Given the description of an element on the screen output the (x, y) to click on. 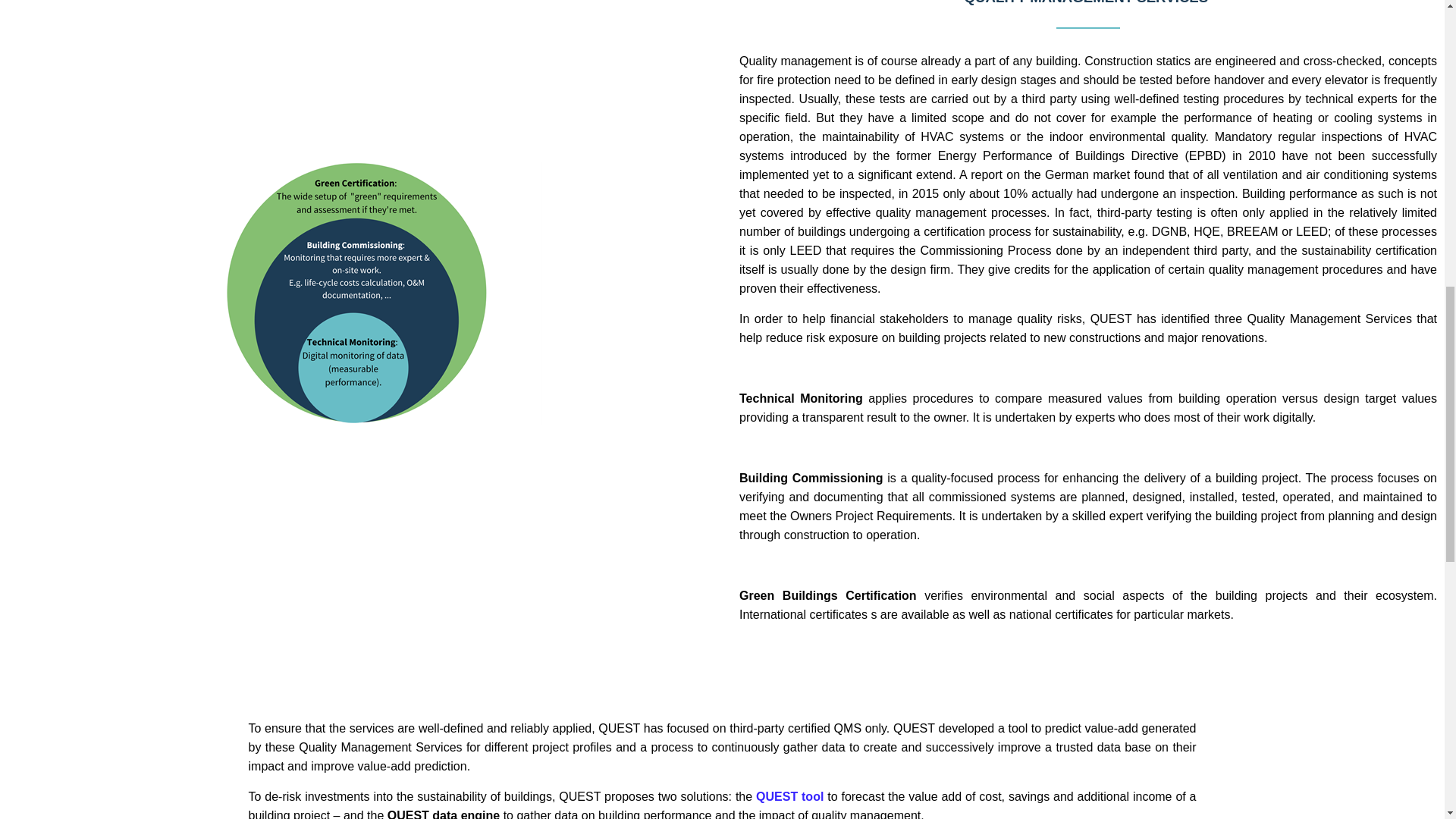
QUEST tool (789, 796)
